Given the description of an element on the screen output the (x, y) to click on. 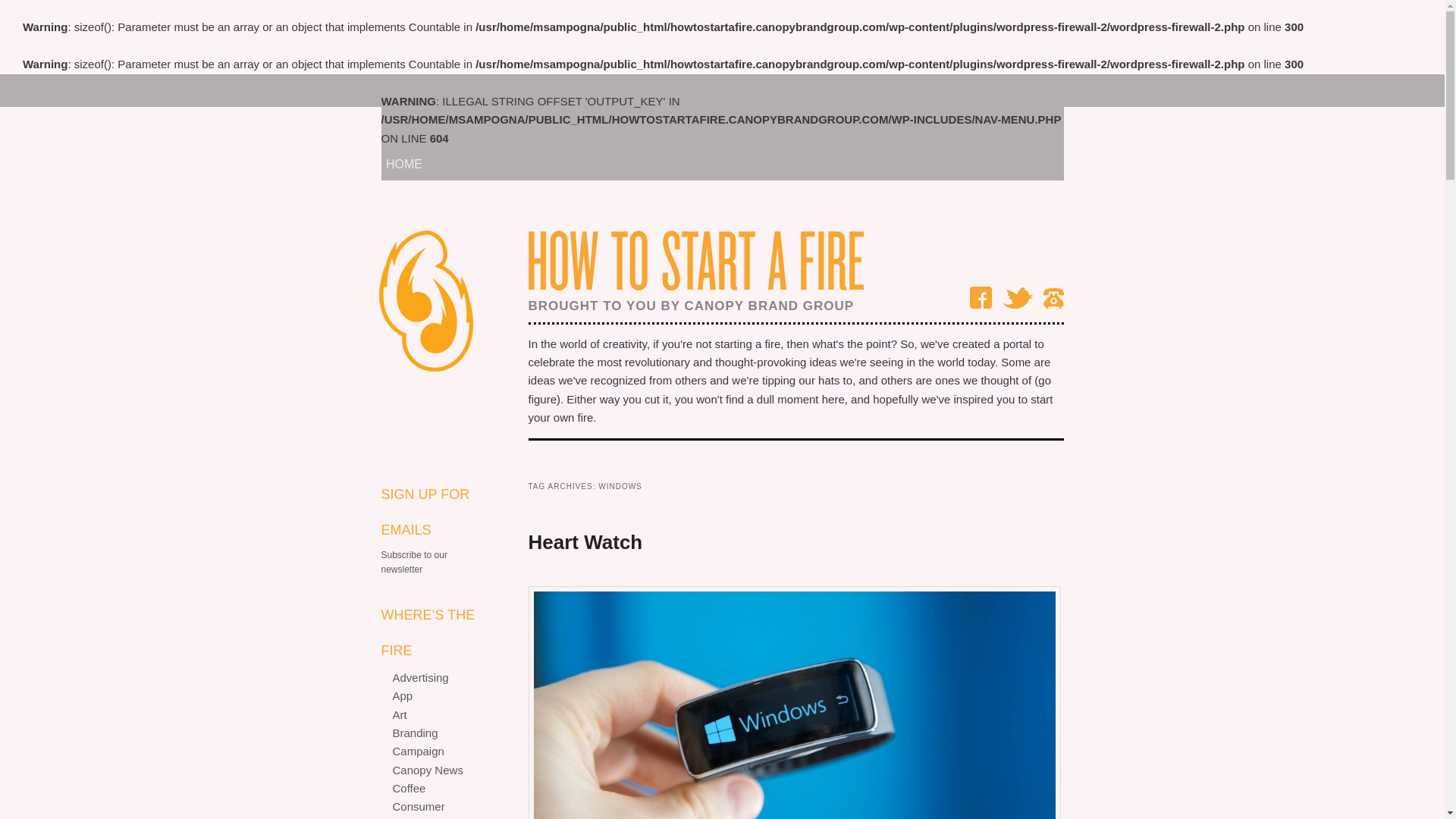
Skip to secondary content (482, 90)
SKIP TO PRIMARY CONTENT (472, 90)
HOME (404, 164)
Skip to primary content (472, 90)
Permalink to Heart Watch (584, 541)
Heart Watch (584, 541)
SKIP TO SECONDARY CONTENT (482, 90)
